Given the description of an element on the screen output the (x, y) to click on. 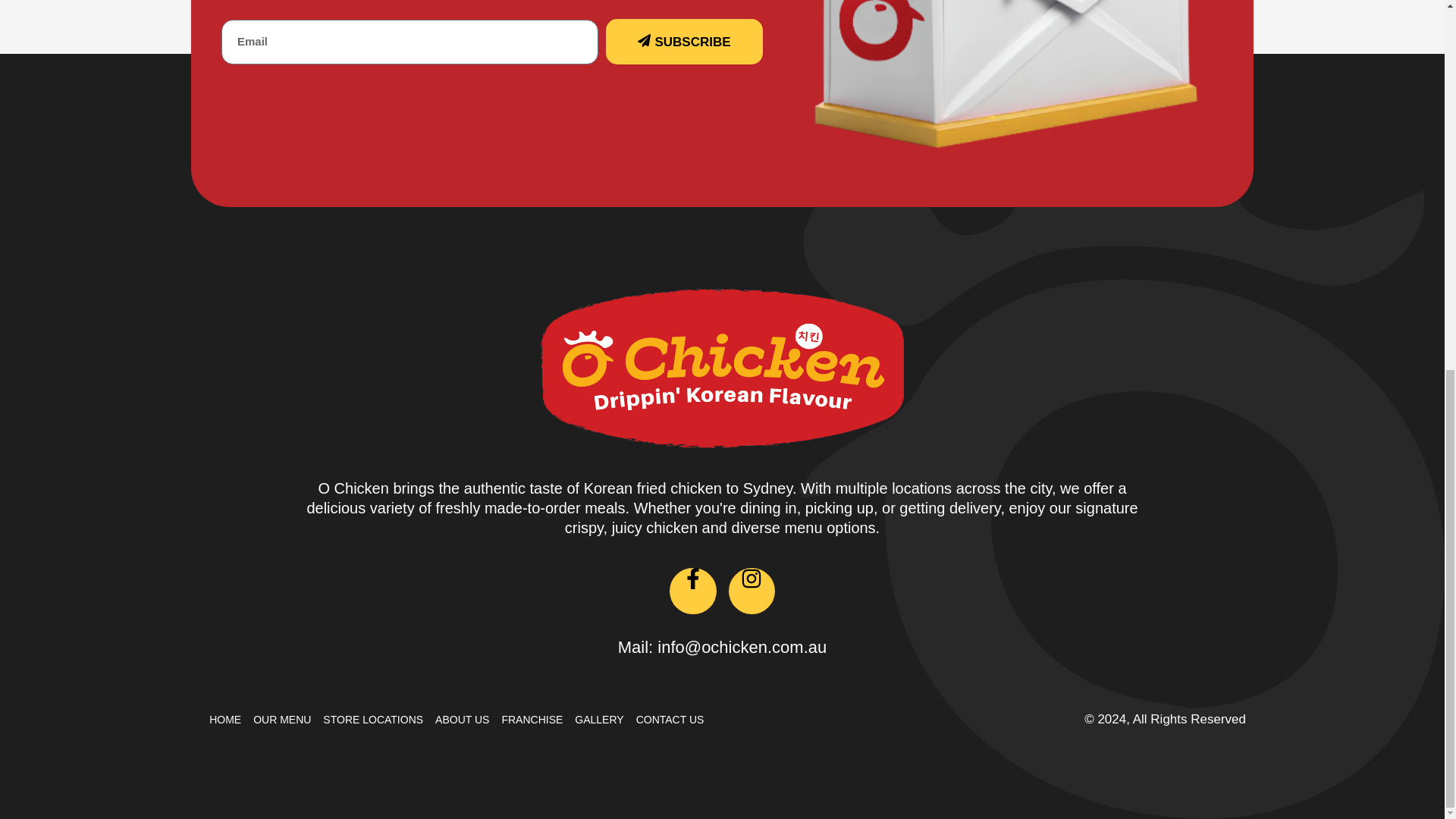
Facebook-f (692, 591)
FRANCHISE (531, 719)
HOME (225, 719)
SUBSCRIBE (683, 41)
CONTACT US (670, 719)
Instagram (751, 591)
OUR MENU (282, 719)
STORE LOCATIONS (373, 719)
ABOUT US (462, 719)
GALLERY (599, 719)
